Given the description of an element on the screen output the (x, y) to click on. 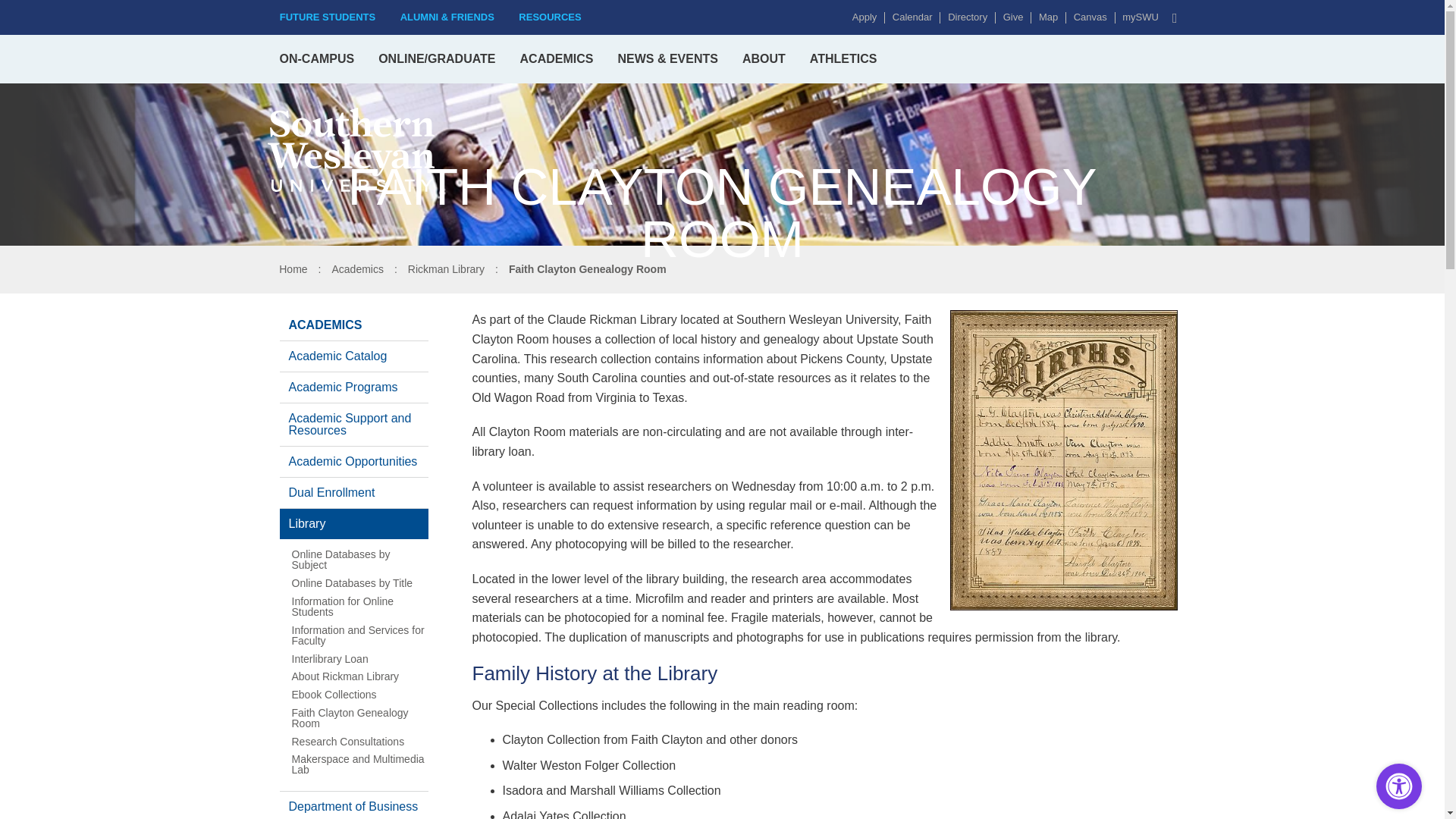
Calendar (908, 17)
Apply (860, 17)
Give (1008, 17)
Directory (963, 17)
Map (1044, 17)
Canvas (1085, 17)
